Given the description of an element on the screen output the (x, y) to click on. 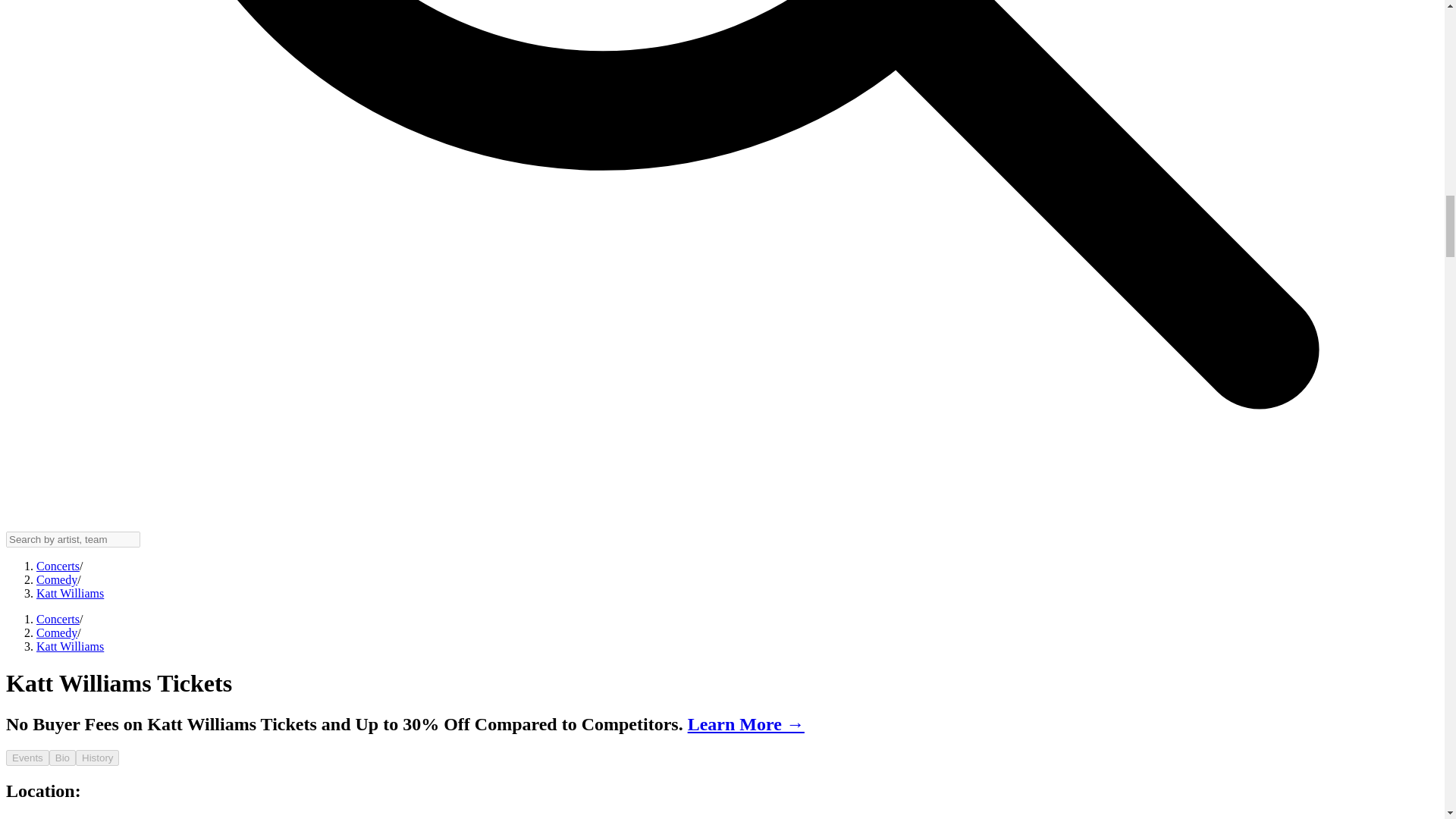
Katt Williams (69, 593)
Katt Williams (69, 645)
Concerts (58, 618)
Events (27, 757)
Comedy (56, 579)
Bio (62, 757)
History (97, 757)
Comedy (56, 632)
Concerts (58, 565)
